Given the description of an element on the screen output the (x, y) to click on. 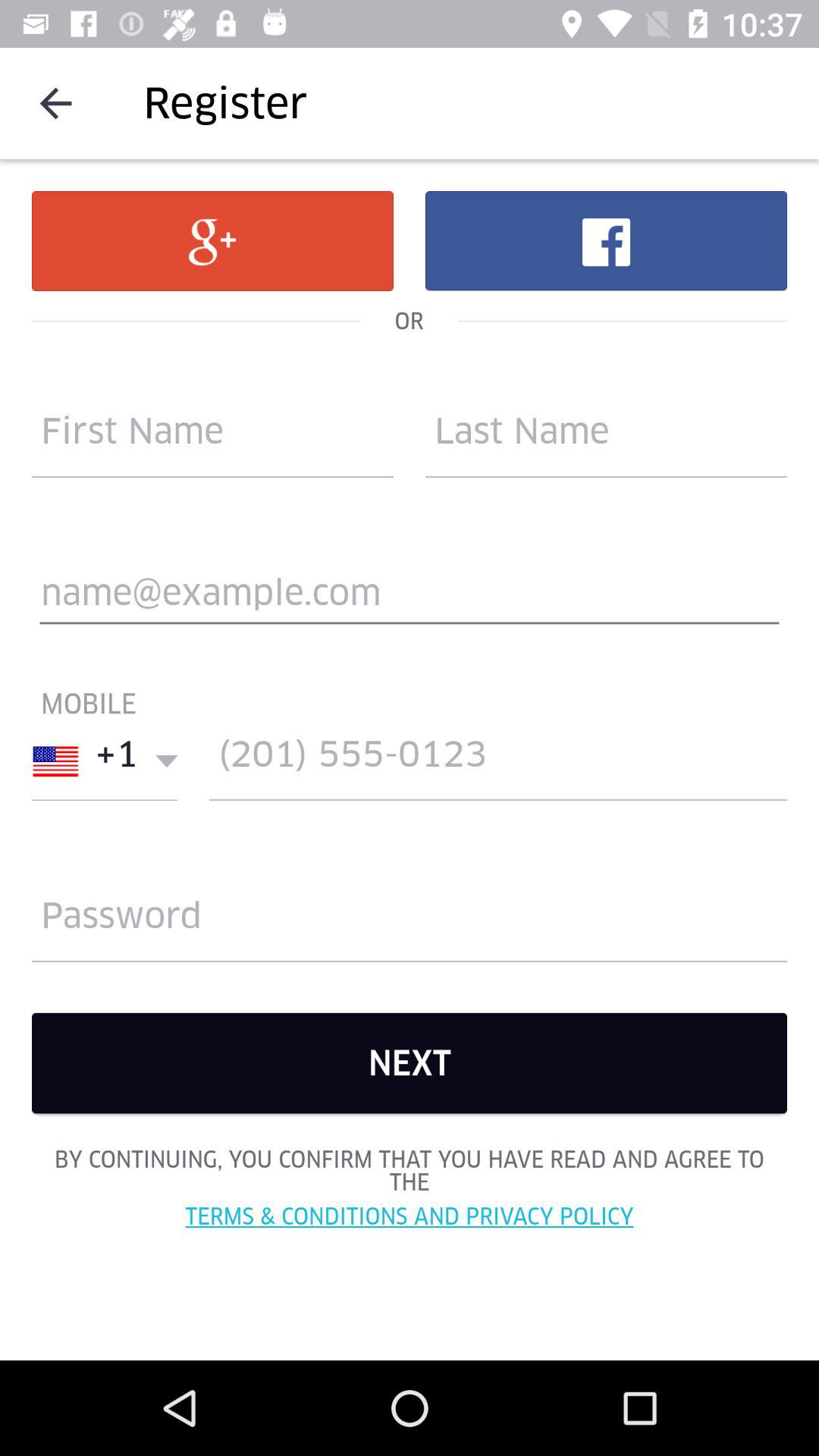
contact mobile no (498, 761)
